Given the description of an element on the screen output the (x, y) to click on. 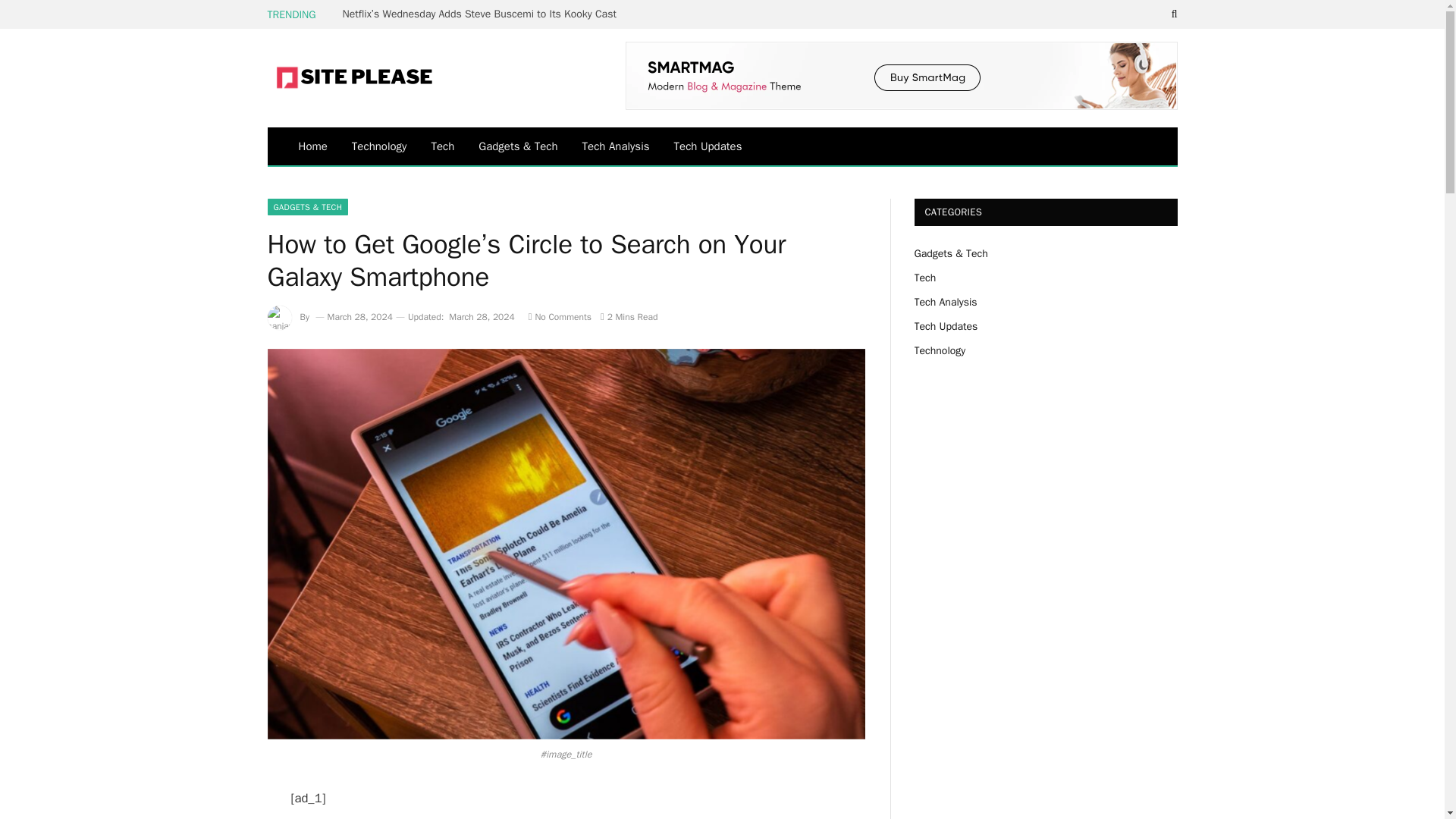
Home (312, 146)
No Comments (559, 316)
Tech (442, 146)
Technology (379, 146)
Tech Analysis (616, 146)
Tech Updates (708, 146)
